Given the description of an element on the screen output the (x, y) to click on. 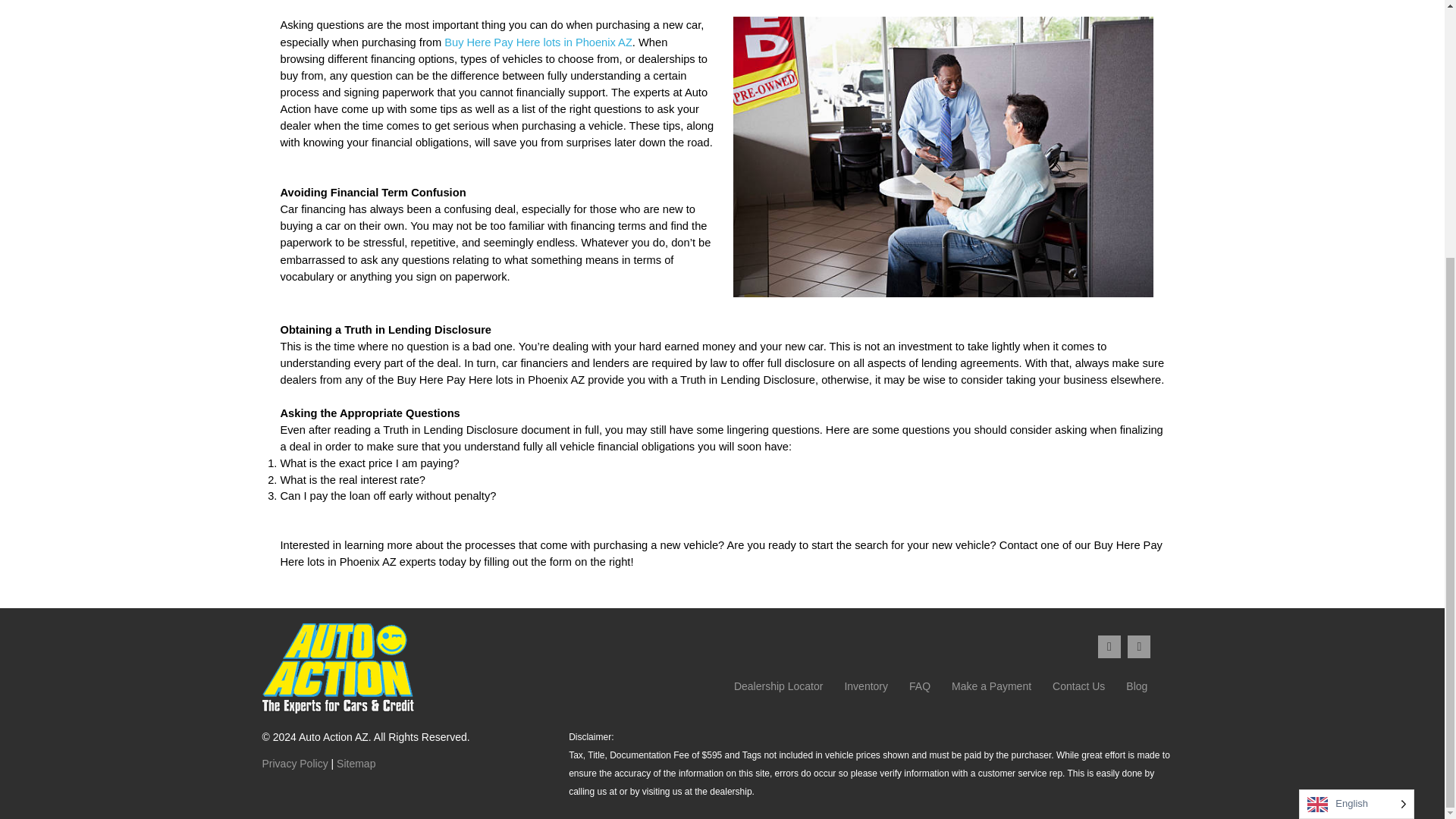
Inventory (866, 686)
Blog (1136, 686)
FAQ (919, 686)
Privacy Policy (295, 763)
Contact Us (1078, 686)
Dealership Locator (778, 686)
Sitemap (355, 763)
Make a Payment (991, 686)
Buy Here Pay Here lots in Phoenix AZ (537, 42)
